Given the description of an element on the screen output the (x, y) to click on. 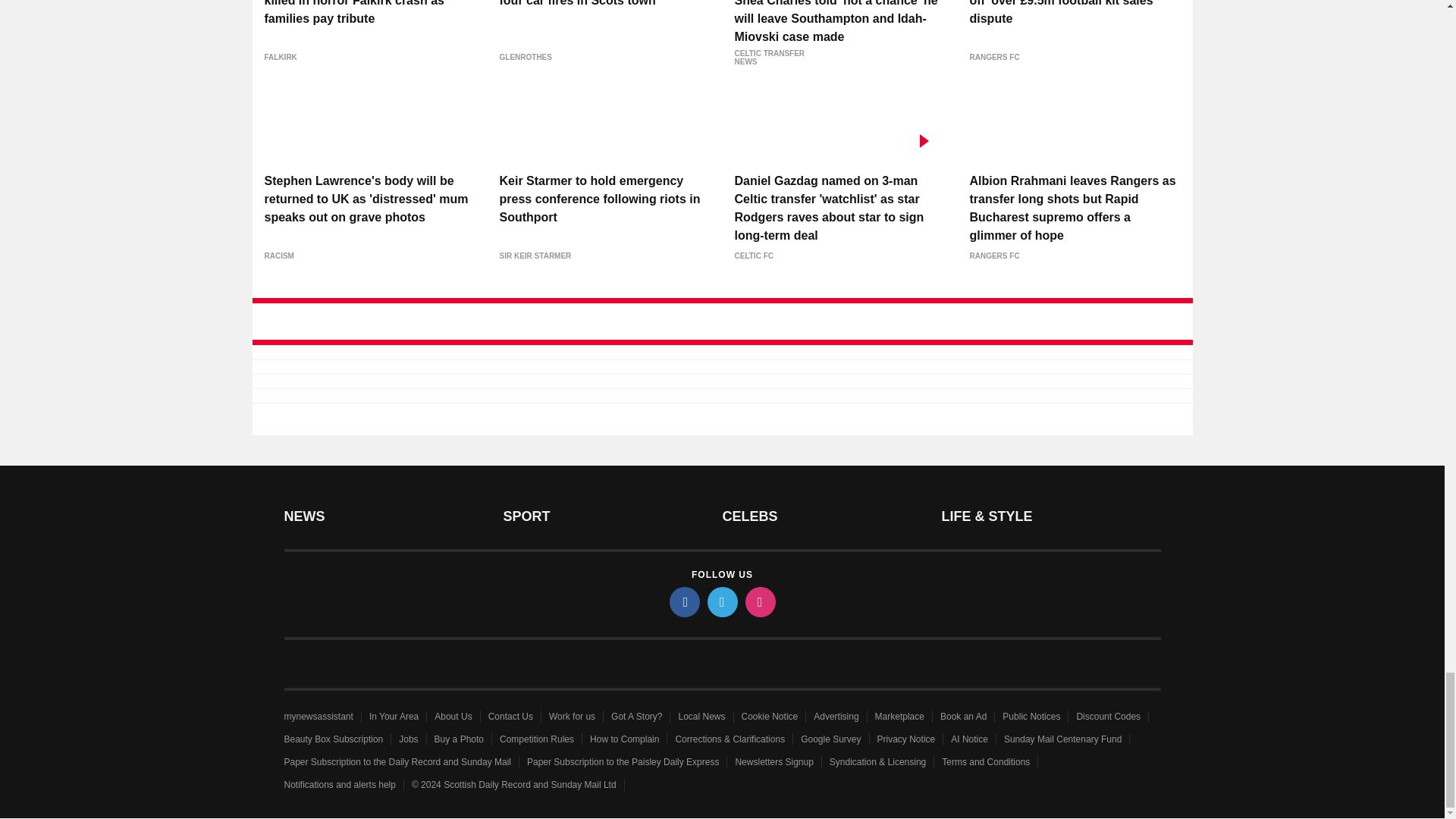
facebook (683, 602)
twitter (721, 602)
instagram (759, 602)
